Given the description of an element on the screen output the (x, y) to click on. 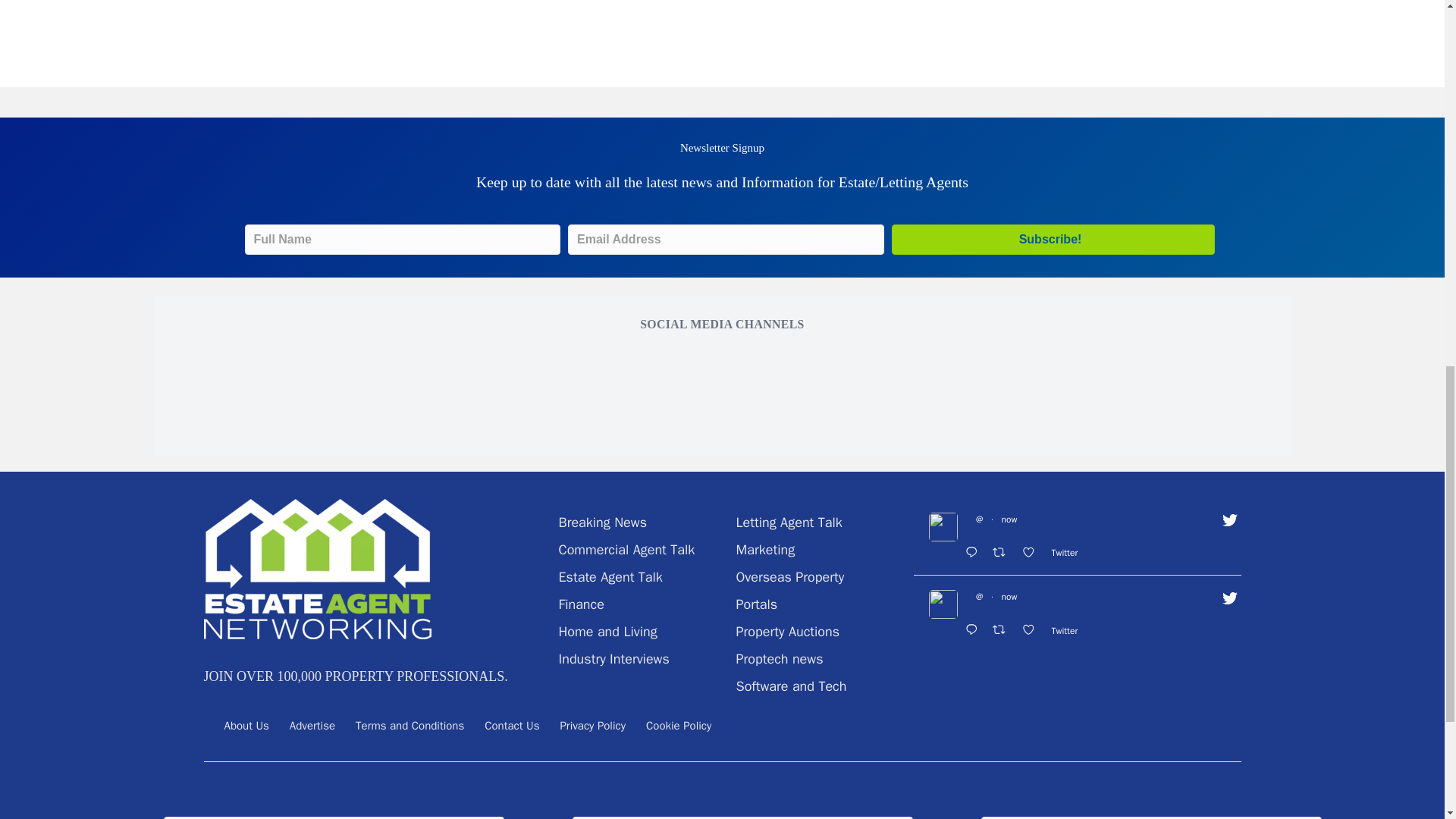
Commercial Agent Talk (625, 549)
Industry Interviews (612, 658)
Twitter (1067, 552)
Like on Twitter (1031, 553)
Portals (756, 604)
Retweet on Twitter (1002, 553)
Home and Living (606, 631)
Subscribe! (1053, 239)
Software and Tech (790, 686)
now (1008, 519)
